Given the description of an element on the screen output the (x, y) to click on. 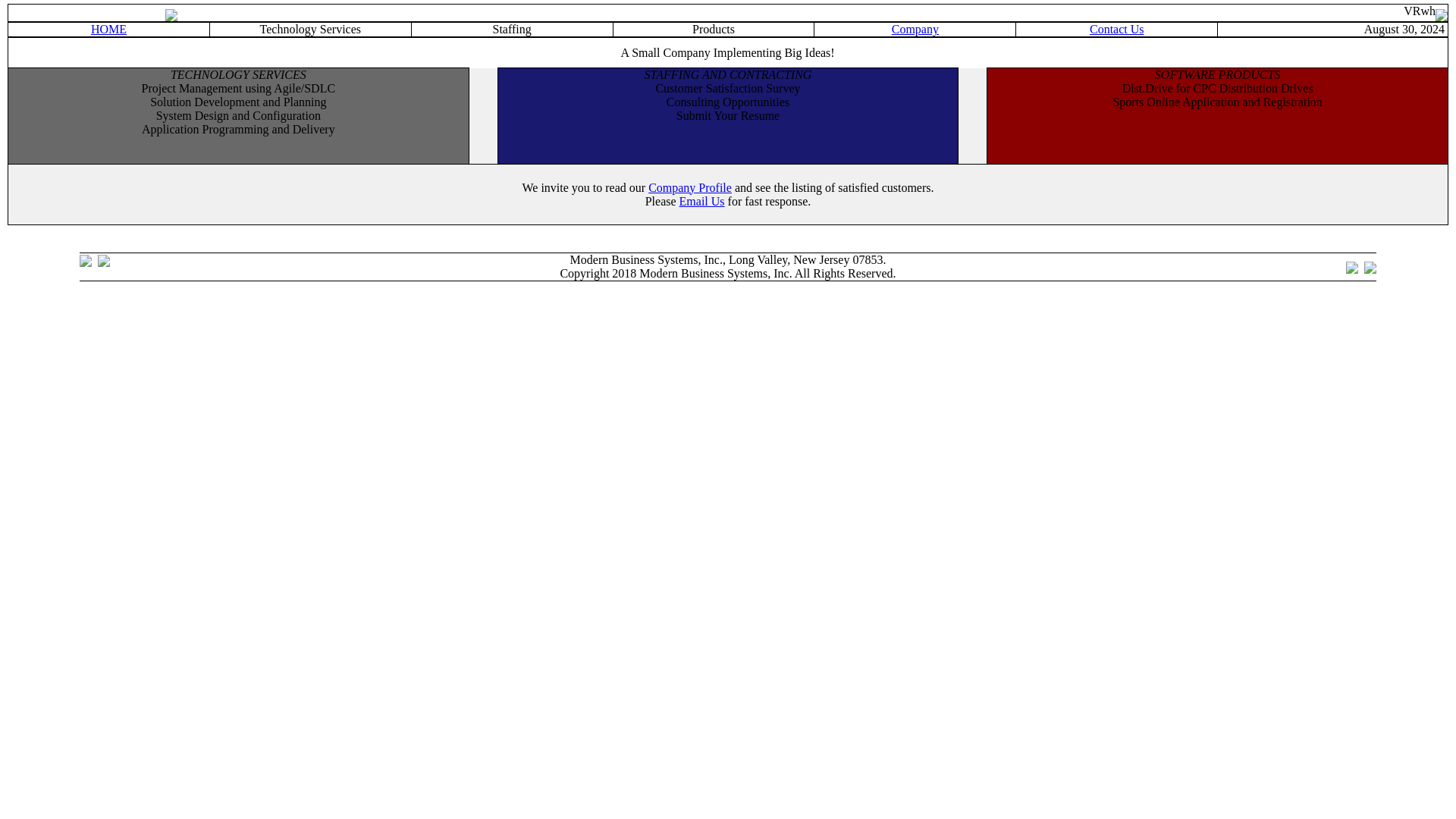
HOME (108, 29)
Email Us (702, 200)
Contact Us (1116, 29)
Company Profile (689, 186)
Company (913, 29)
